Given the description of an element on the screen output the (x, y) to click on. 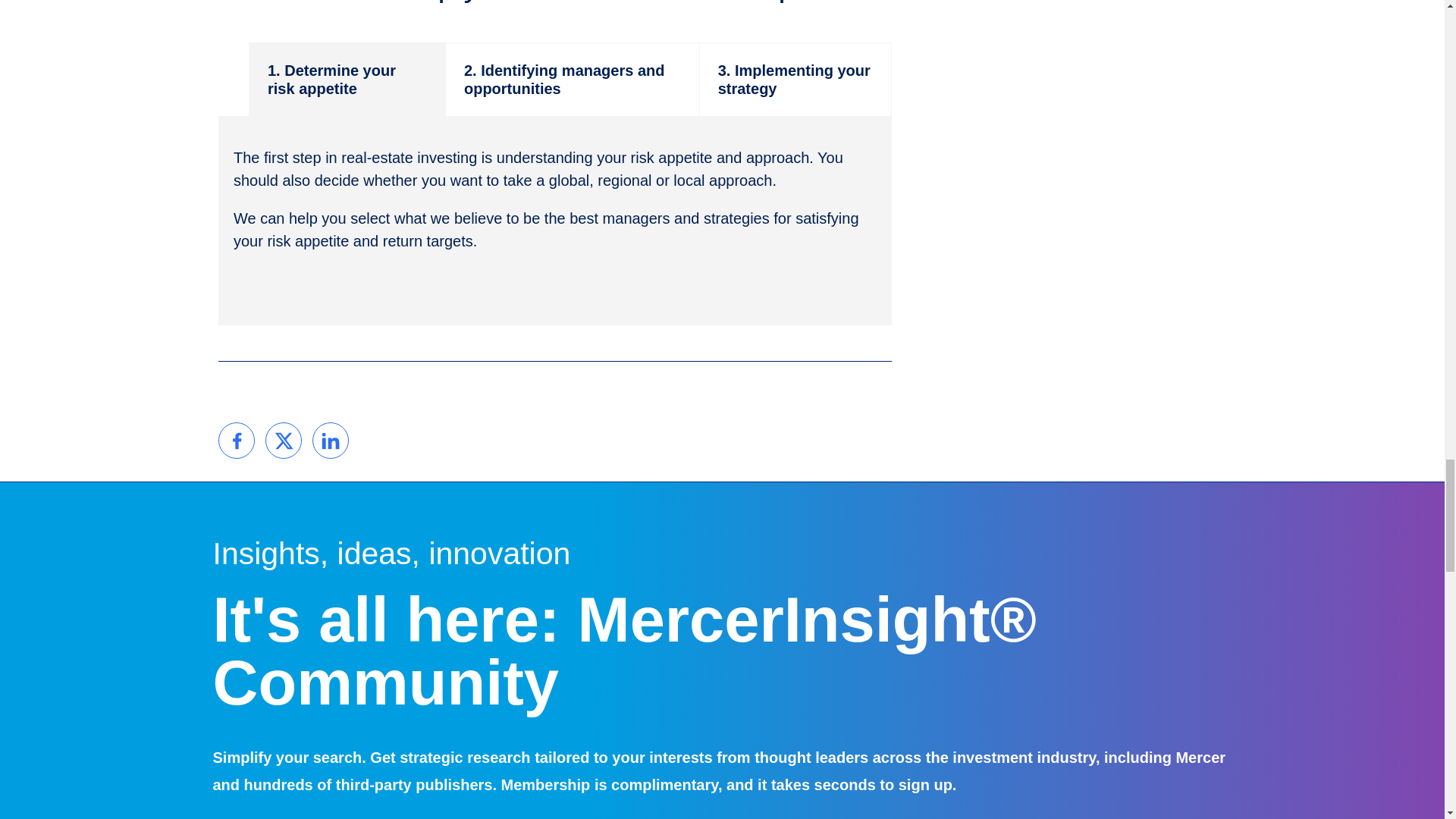
Share on Facebook (236, 440)
Share on LinkedIn (330, 440)
Share on LinkedIn (330, 440)
Share on Facebook (236, 440)
Share on Twitter (283, 440)
Share on Twitter (283, 440)
